Given the description of an element on the screen output the (x, y) to click on. 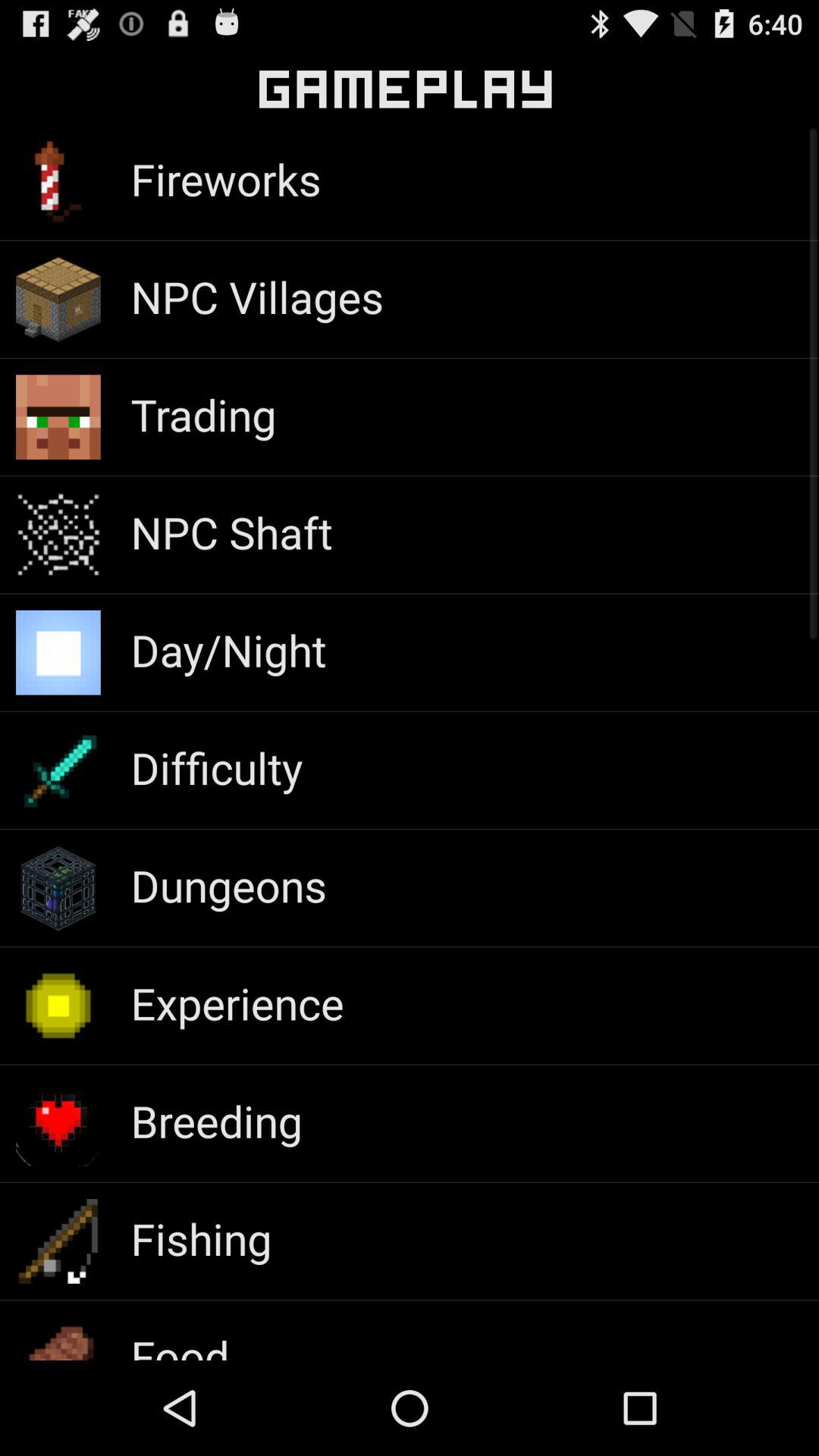
flip to the dungeons icon (228, 884)
